Given the description of an element on the screen output the (x, y) to click on. 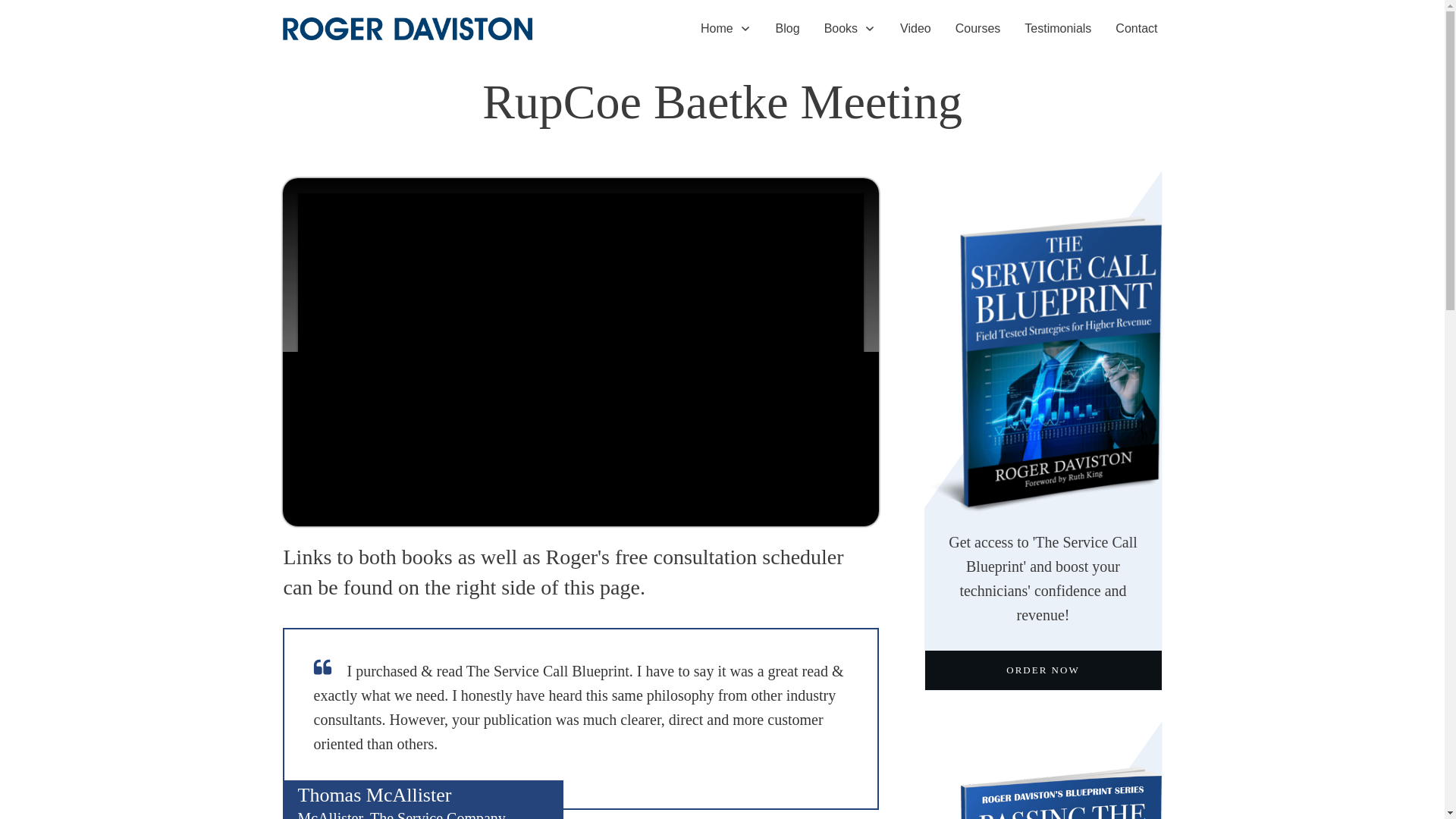
Contact (1136, 28)
Video (915, 28)
Books (850, 28)
ORDER NOW (1042, 670)
Courses (978, 28)
Blog (787, 28)
Home (725, 28)
Testimonials (1057, 28)
